Given the description of an element on the screen output the (x, y) to click on. 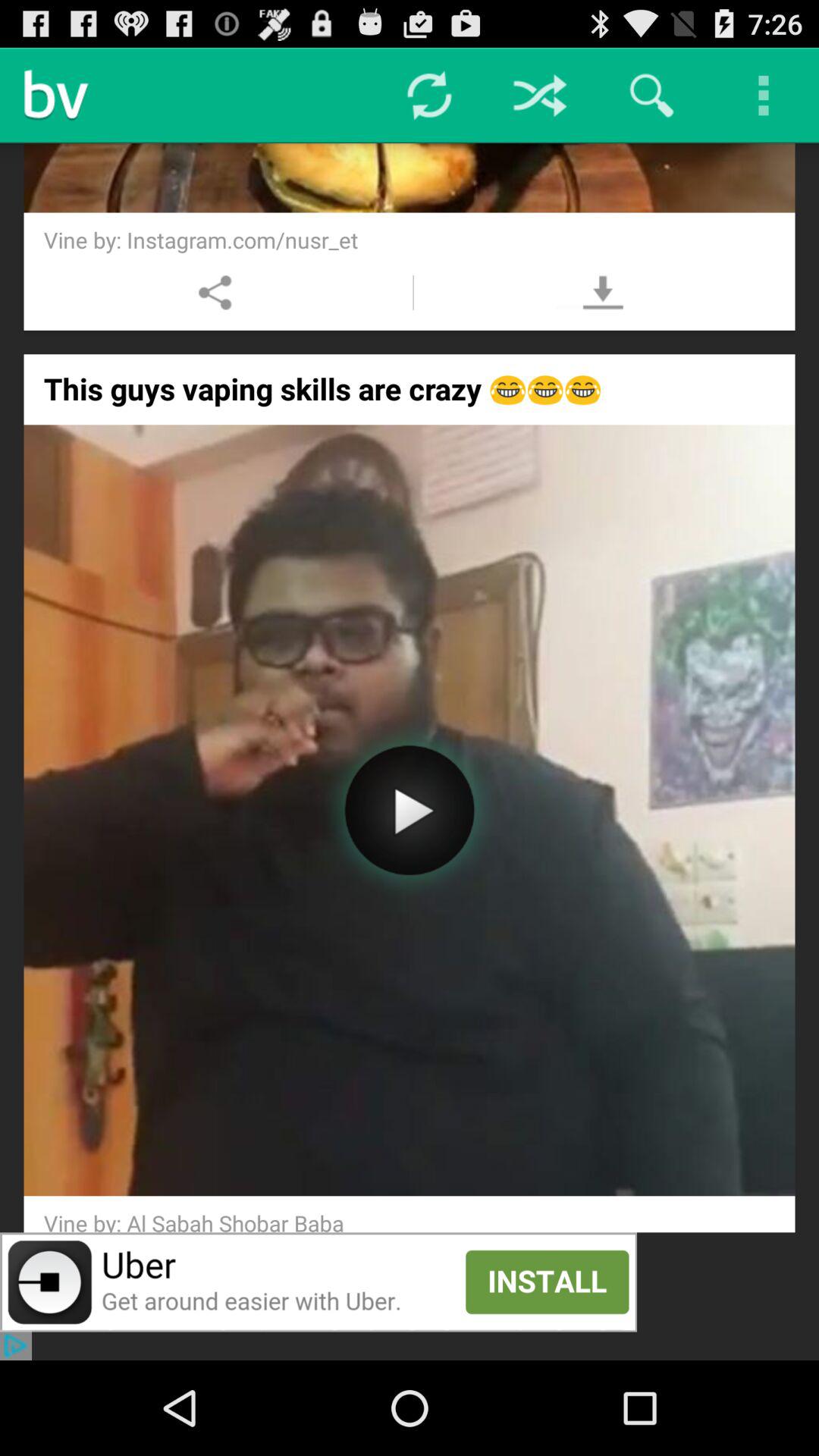
share (215, 292)
